Given the description of an element on the screen output the (x, y) to click on. 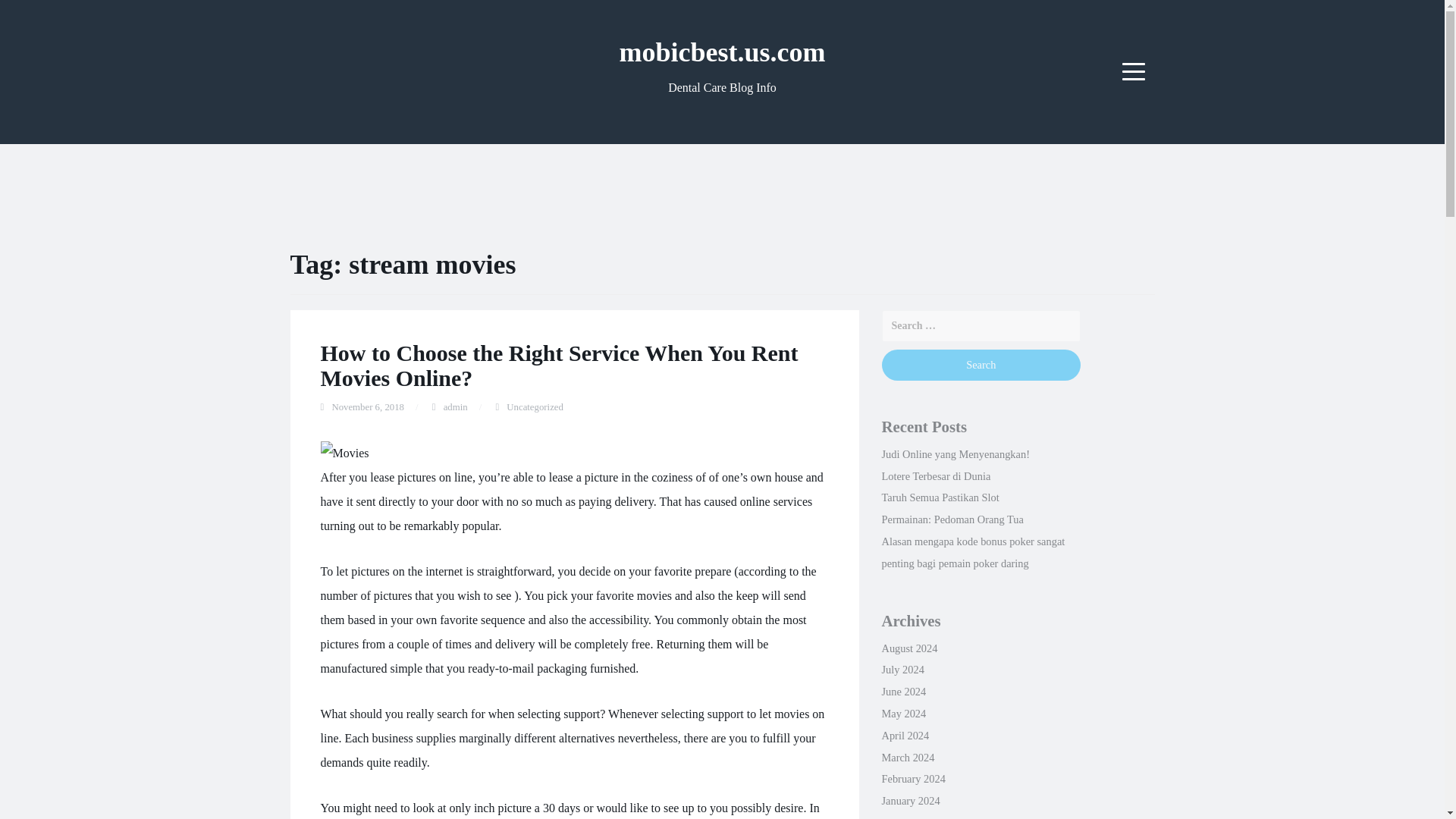
Search (980, 364)
May 2024 (903, 713)
Judi Online yang Menyenangkan! (954, 453)
June 2024 (903, 691)
August 2024 (908, 648)
Permainan: Pedoman Orang Tua (951, 519)
How to Choose the Right Service When You Rent Movies Online? (558, 365)
admin (455, 407)
Uncategorized (534, 407)
mobicbest.us.com (721, 51)
